Given the description of an element on the screen output the (x, y) to click on. 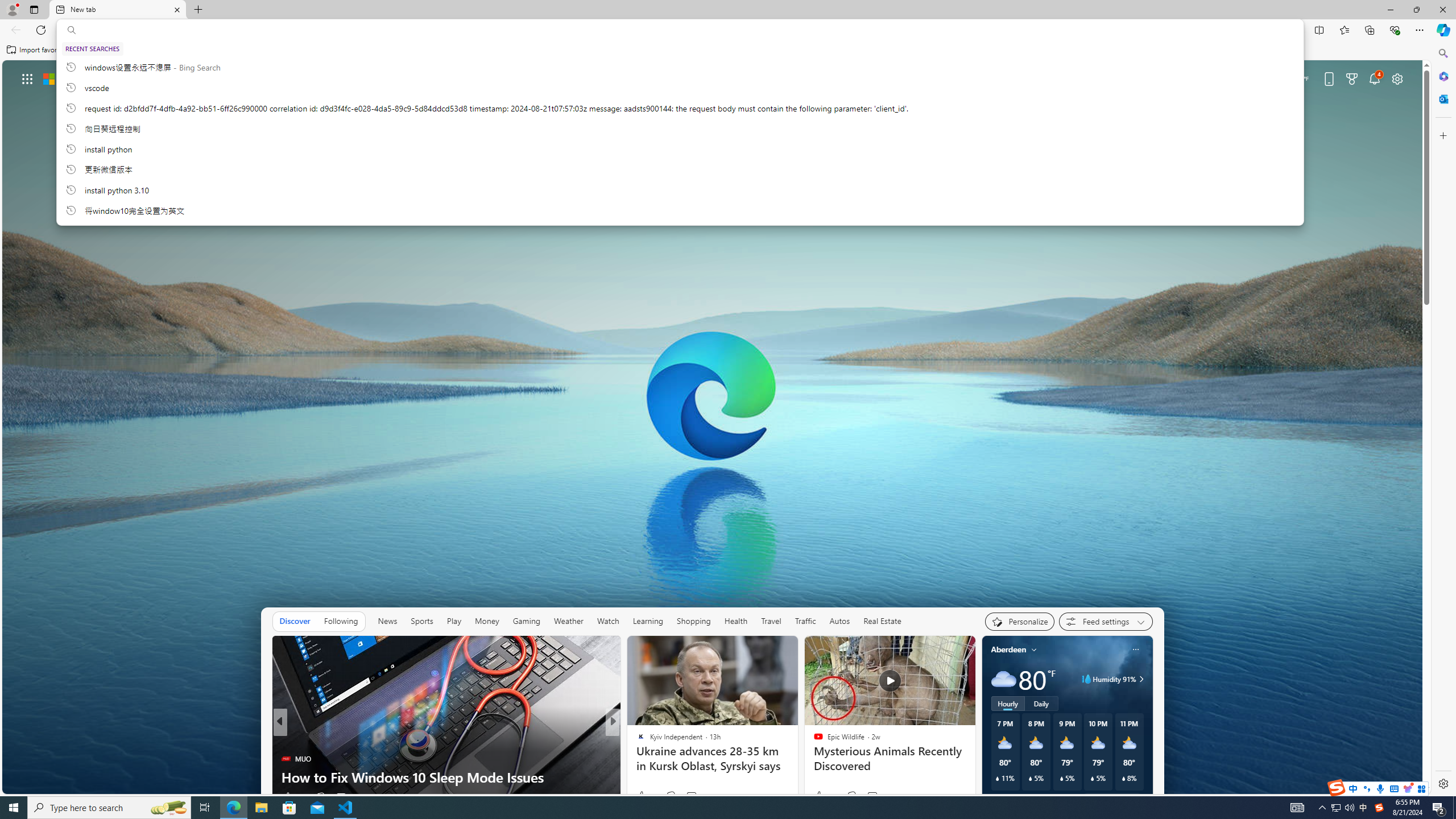
Daily (1041, 703)
View comments 65 Comment (691, 797)
Real Estate (882, 621)
Gaming (526, 621)
How to Fix Windows 10 Sleep Mode Issues (446, 777)
168 Like (643, 796)
Savvy Dime (635, 740)
